Given the description of an element on the screen output the (x, y) to click on. 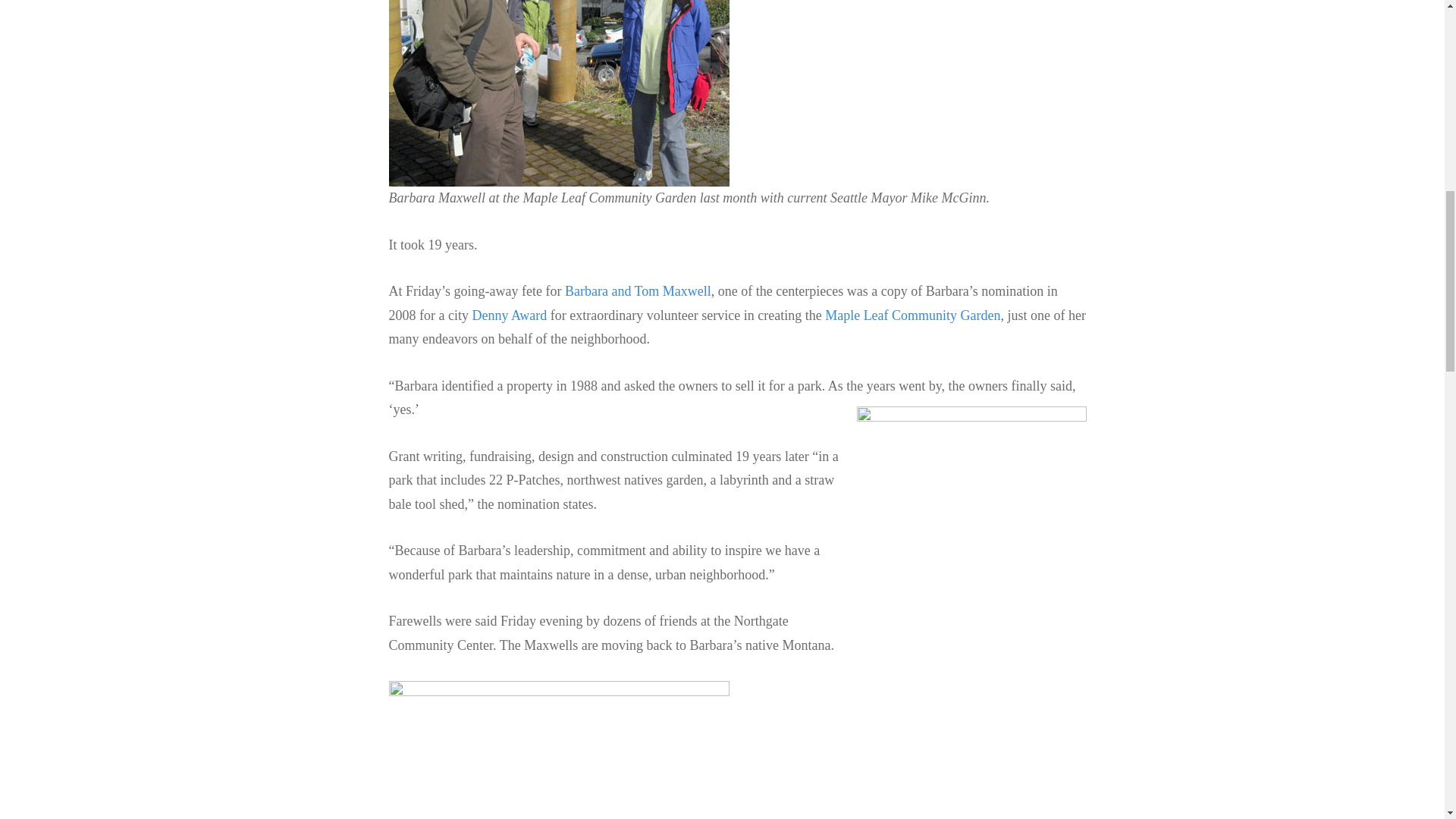
Maple Leaf Community Garden (912, 314)
Denny Award (509, 314)
TomMaxwell (558, 749)
Barbara and Tom Maxwell (637, 290)
